Given the description of an element on the screen output the (x, y) to click on. 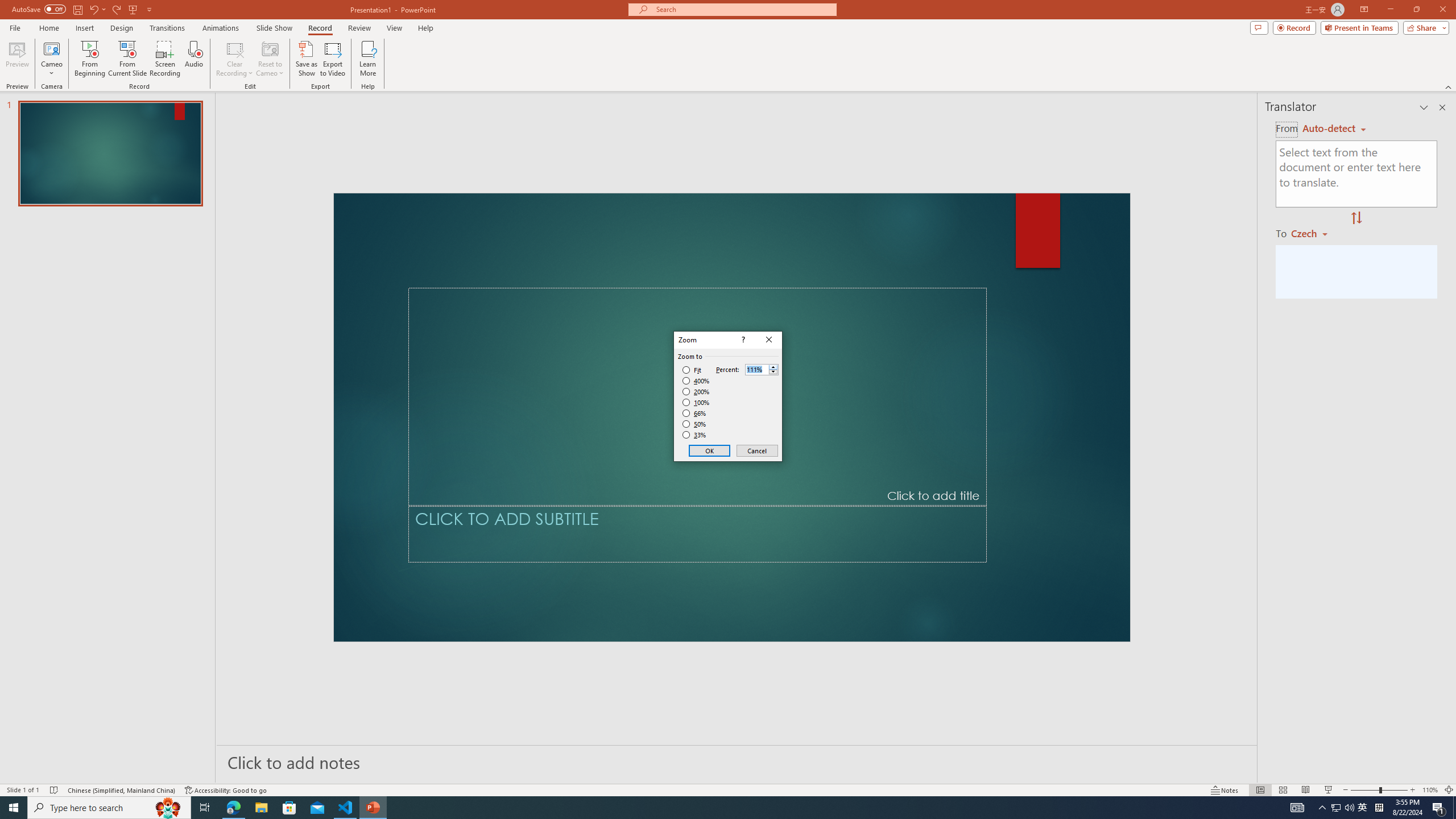
Mailings (458, 47)
More Options (526, 106)
Check for Errors... (763, 112)
Review (572, 47)
Highlight Merge Fields (378, 92)
Web Layout (1287, 773)
Microsoft search (749, 18)
Help (708, 47)
Finish & Merge (872, 92)
Class: MsoCommandBar (728, 67)
Find Recipient... (758, 91)
Save (136, 18)
Previous (743, 72)
Envelopes... (88, 92)
